Given the description of an element on the screen output the (x, y) to click on. 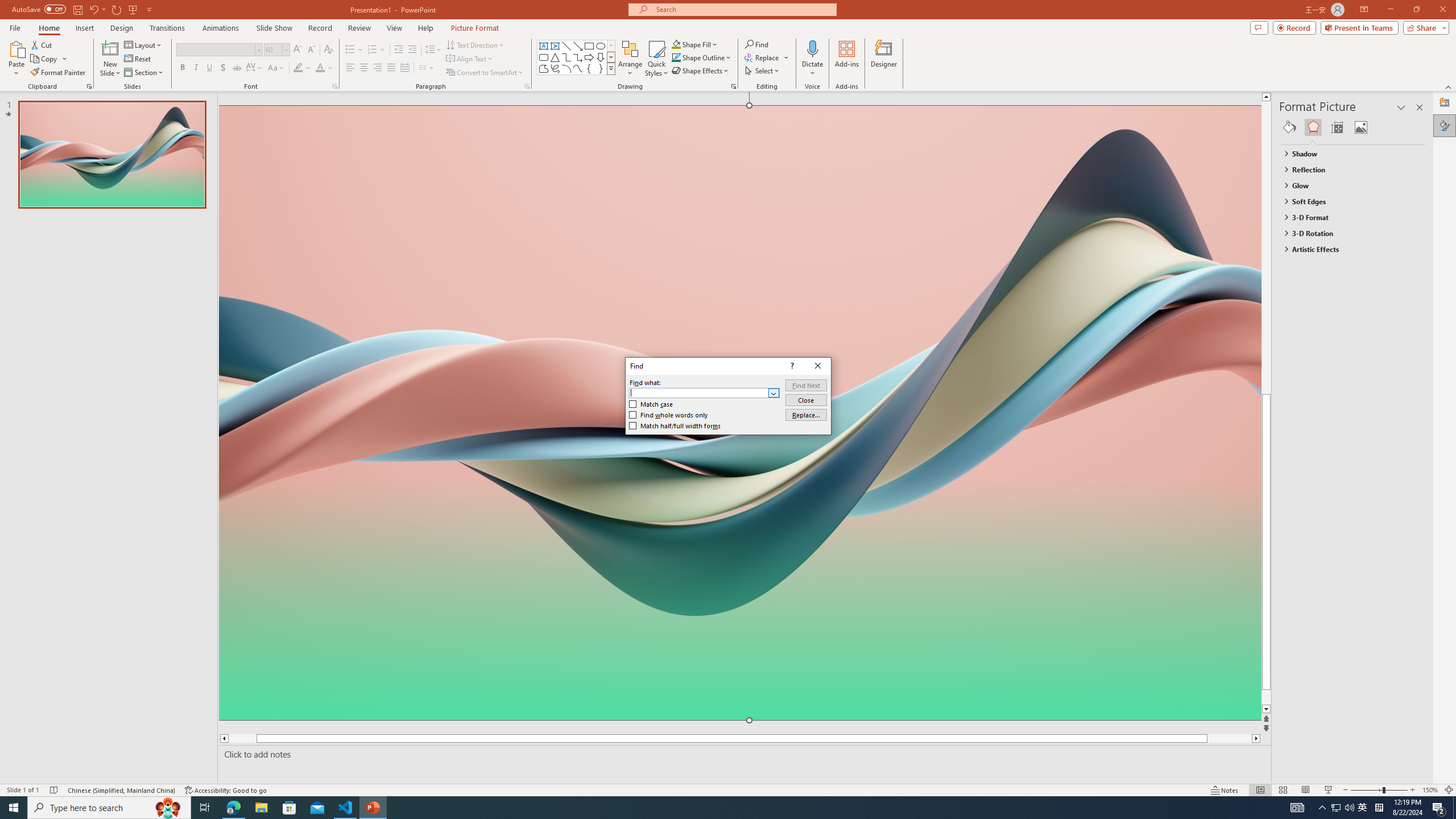
Shape Effects (700, 69)
